Given the description of an element on the screen output the (x, y) to click on. 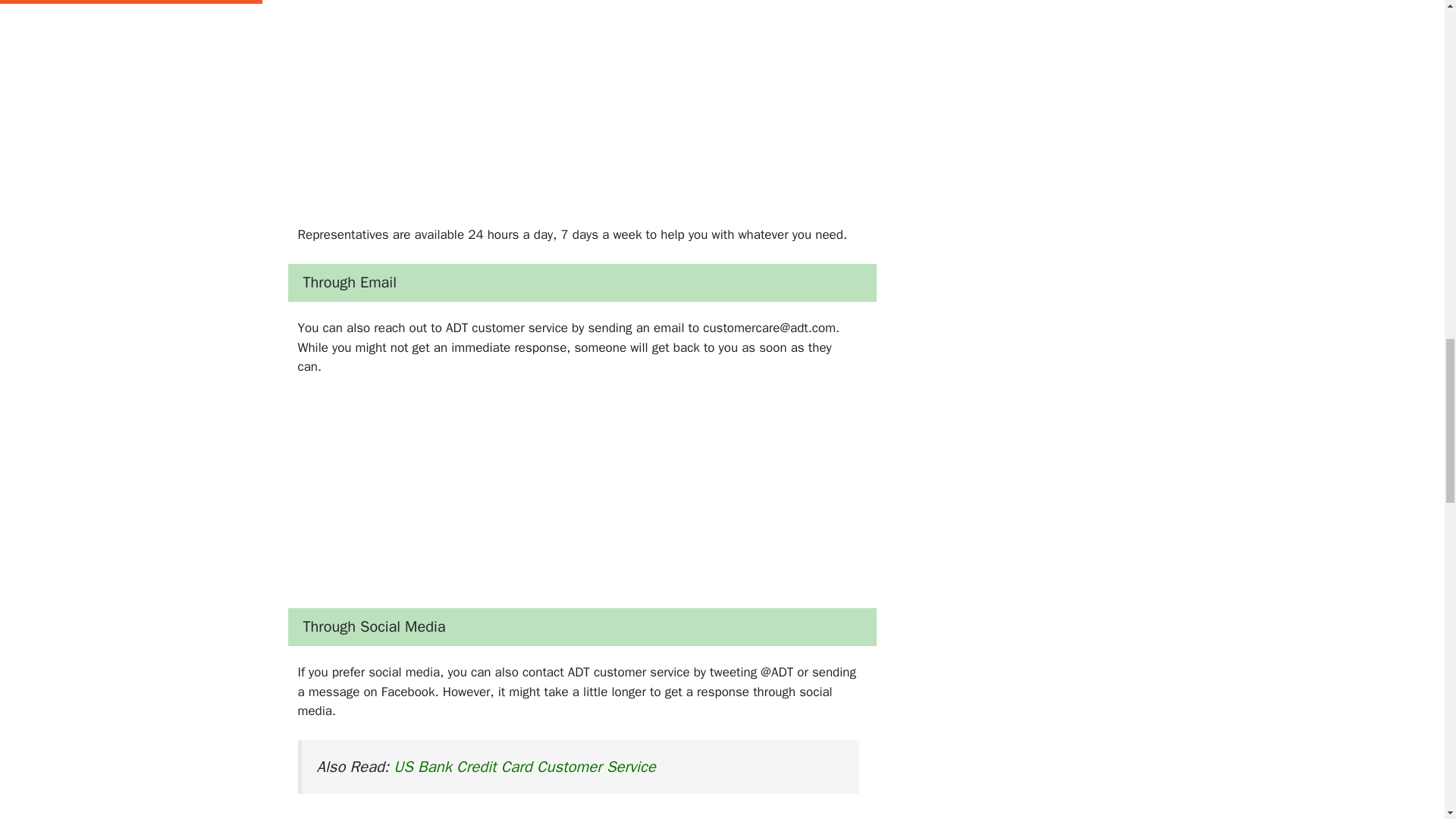
US Bank Credit Card Customer Service (524, 766)
